Given the description of an element on the screen output the (x, y) to click on. 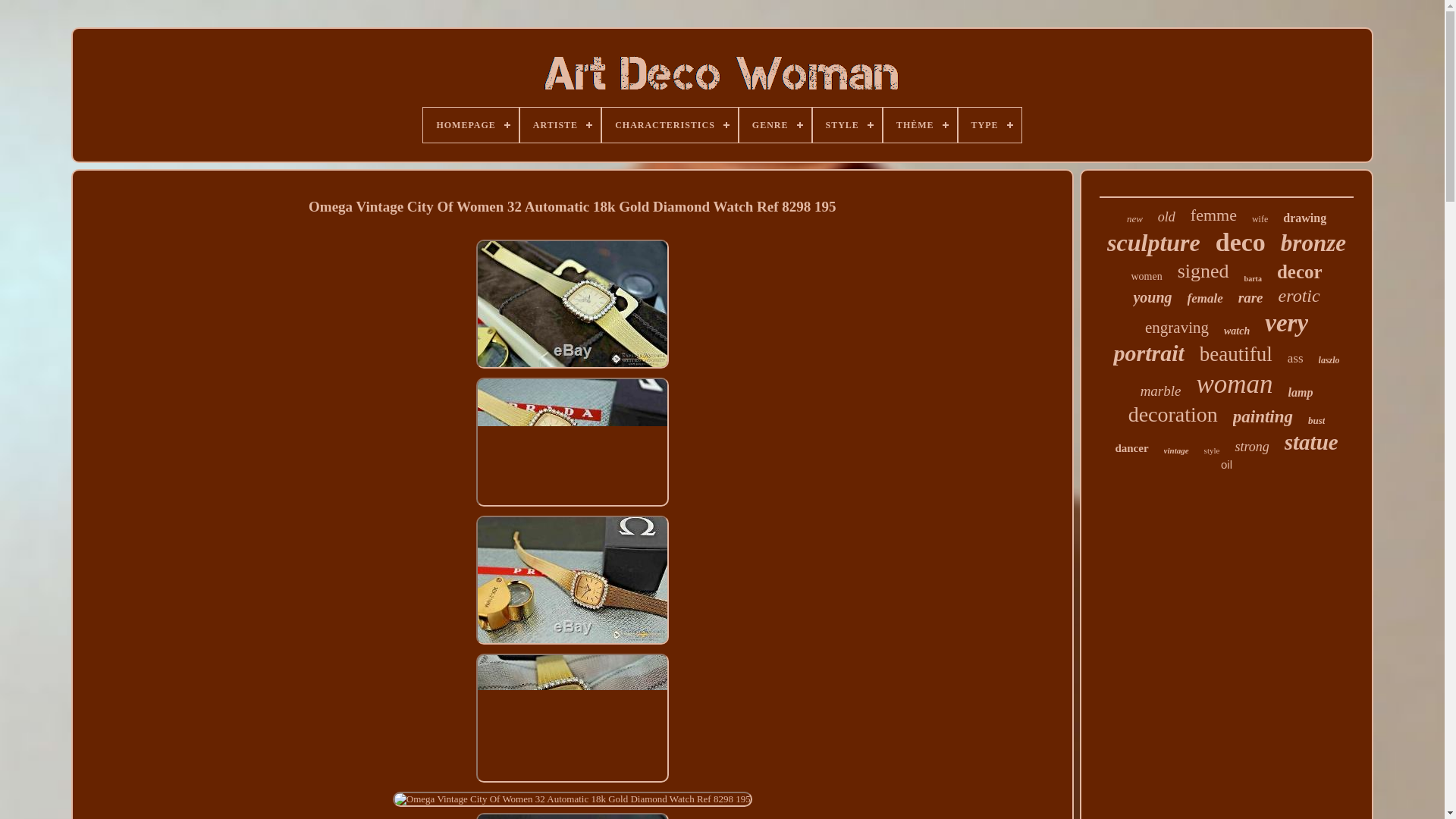
CHARACTERISTICS (670, 124)
GENRE (774, 124)
ARTISTE (559, 124)
HOMEPAGE (470, 124)
